Given the description of an element on the screen output the (x, y) to click on. 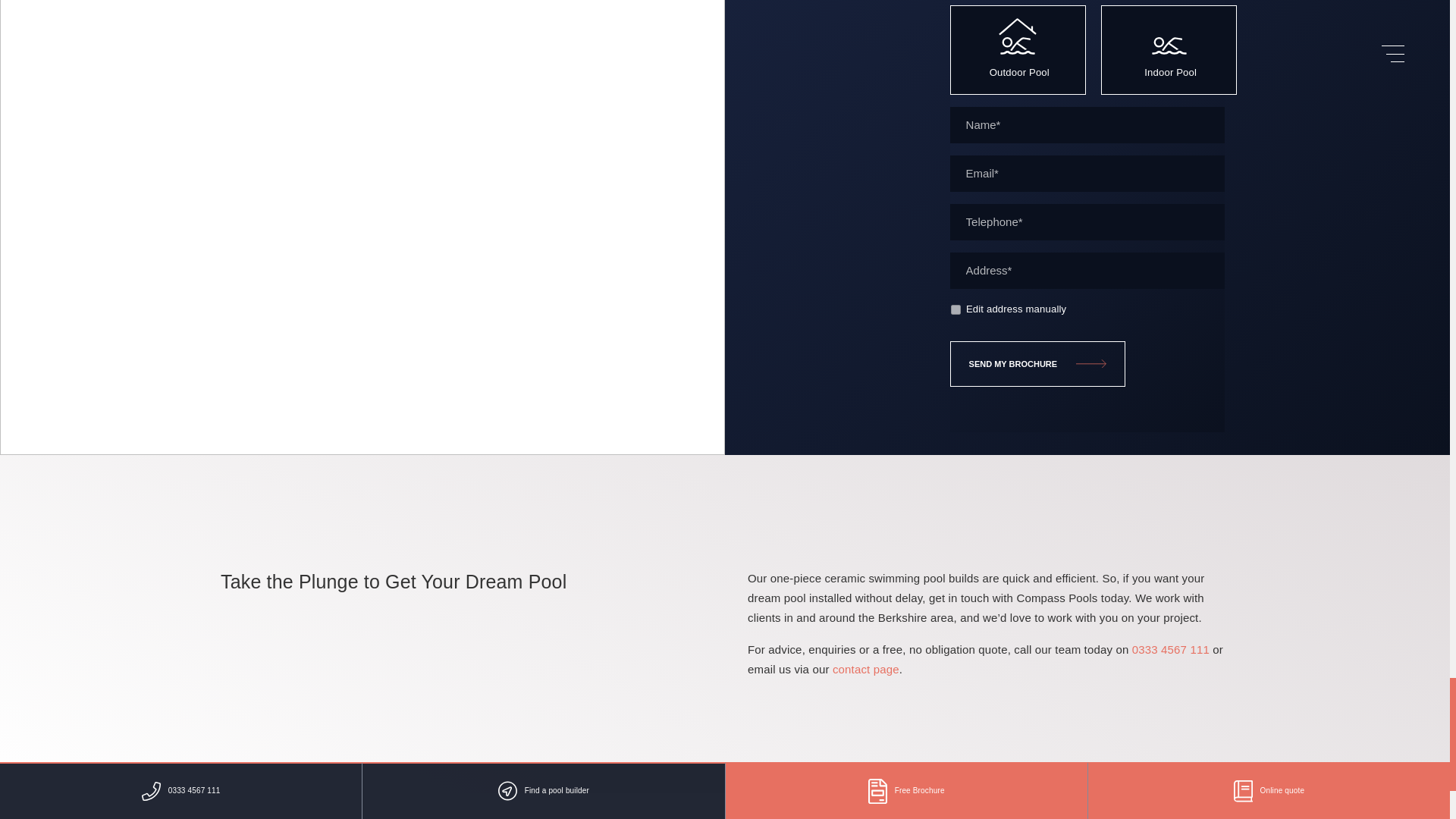
contact page (865, 668)
Edit address manually (955, 309)
0333 4567 111 (1170, 649)
SEND MY BROCHURE (1037, 363)
